Given the description of an element on the screen output the (x, y) to click on. 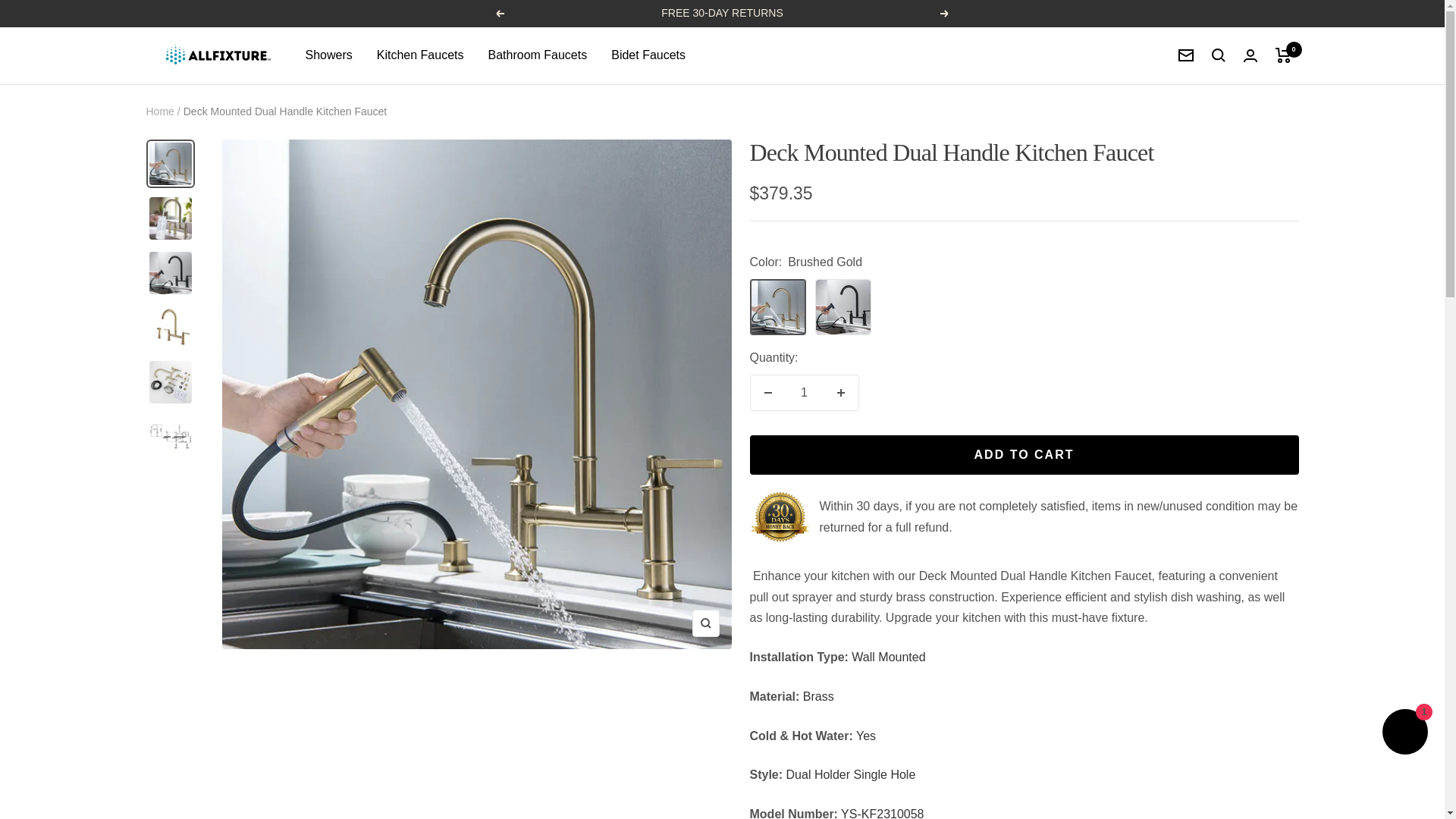
0 (1283, 55)
Kitchen Faucets (420, 55)
Home (159, 111)
Increase quantity (841, 392)
1 (805, 392)
Decrease quantity (768, 392)
Zoom (705, 623)
Newsletter (1185, 55)
Allfixture (213, 55)
ADD TO CART (1023, 454)
Bidet Faucets (648, 55)
Next (944, 13)
Bathroom Faucets (536, 55)
Showers (328, 55)
